Given the description of an element on the screen output the (x, y) to click on. 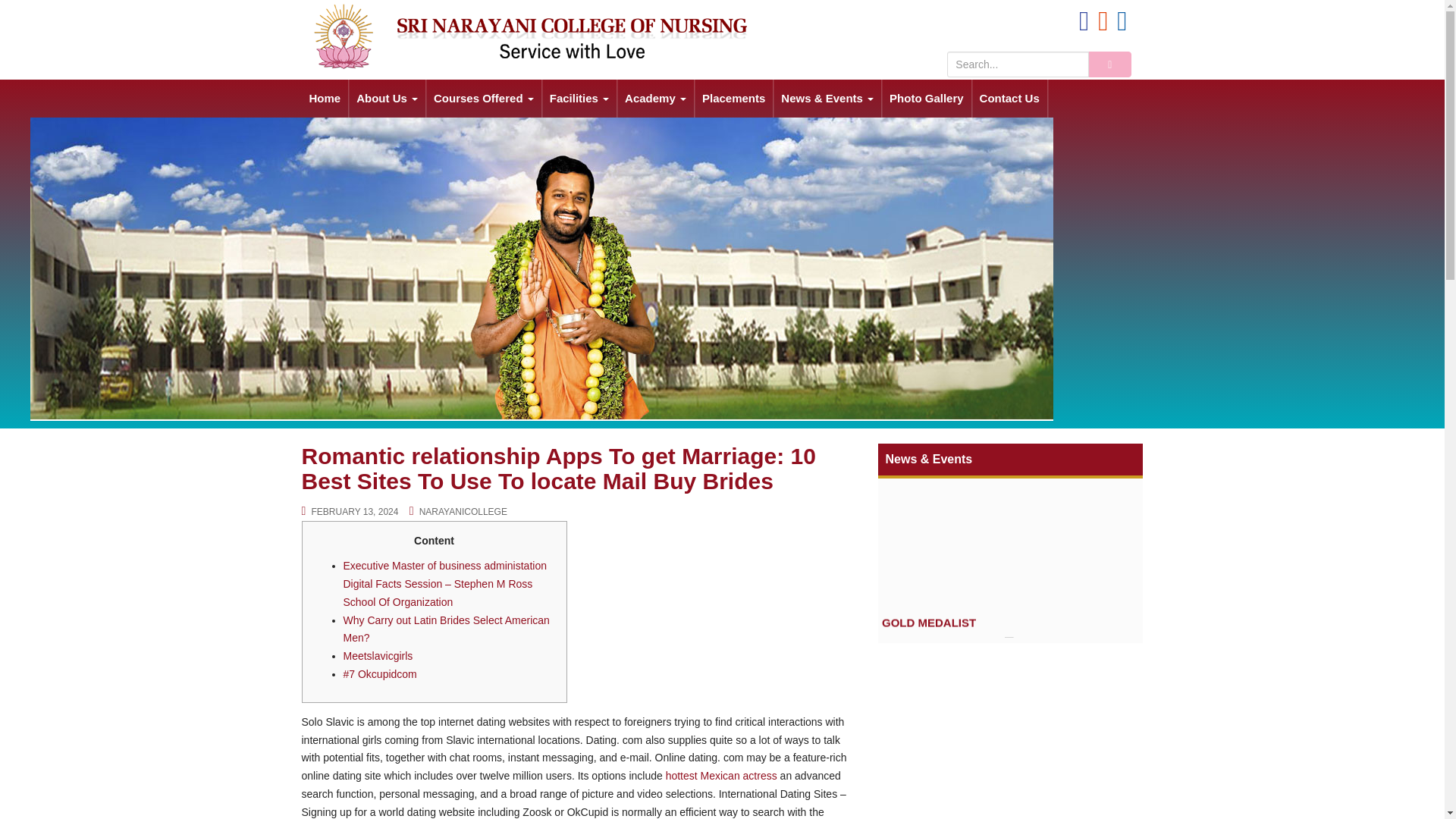
hottest Mexican actress (721, 775)
Facilities (579, 98)
FEBRUARY 13, 2024 (354, 511)
Placements (733, 98)
Facebook (1083, 23)
Courses Offered (483, 98)
LinkedIn (1121, 23)
Why Carry out Latin Brides Select American Men? (445, 629)
Academy (655, 98)
Facilities (579, 98)
Google Plus (1102, 23)
Home (325, 98)
Home (325, 98)
Meetslavicgirls (377, 655)
GOLD MEDALIST (927, 641)
